Given the description of an element on the screen output the (x, y) to click on. 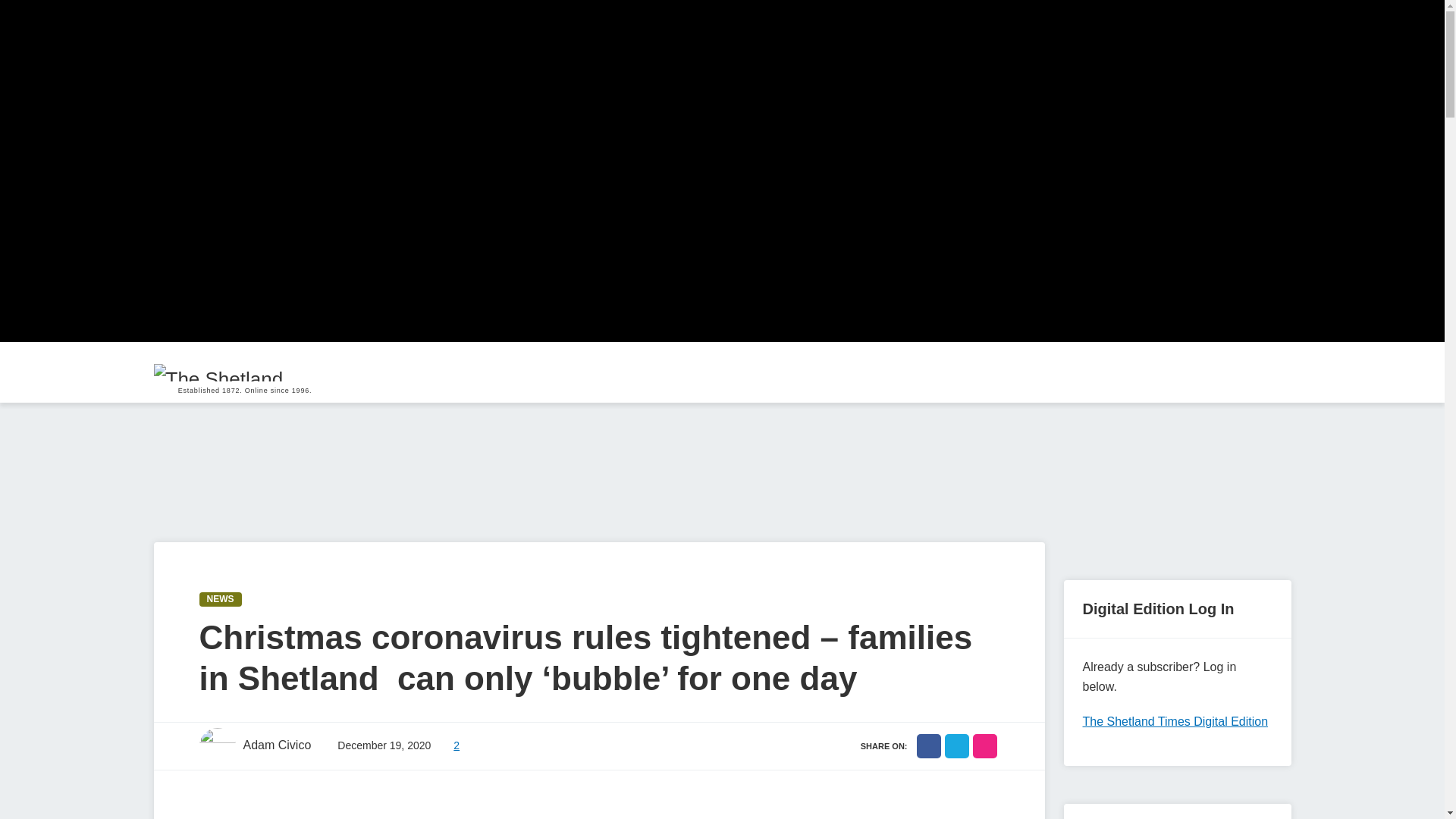
NEWS (219, 599)
Established 1872. Online since 1996. (244, 372)
Adam Civico (254, 746)
